Given the description of an element on the screen output the (x, y) to click on. 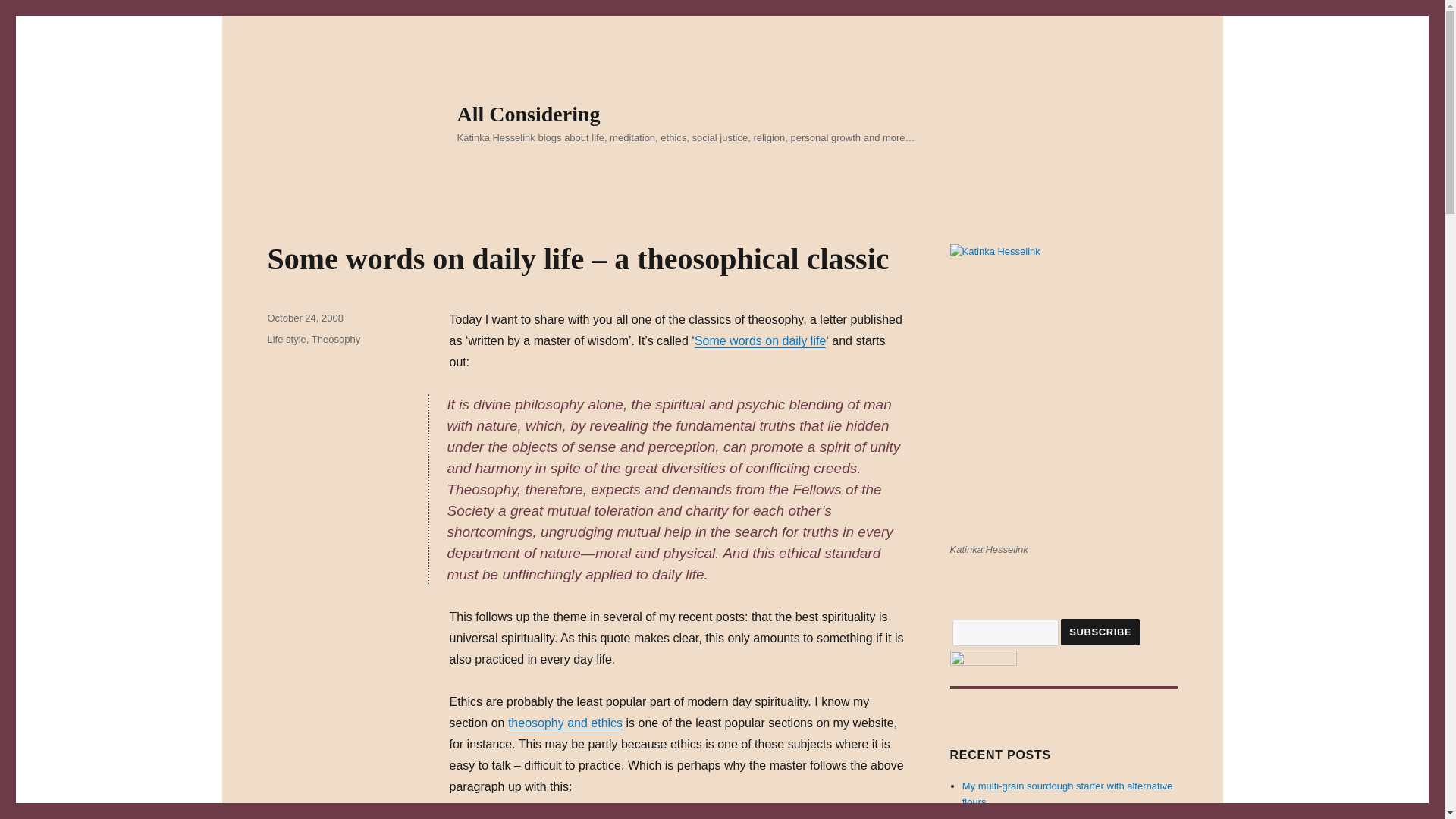
Theosophy (335, 338)
Some words on daily life (759, 340)
October 24, 2008 (304, 317)
All Considering (528, 114)
theosophy and ethics (565, 722)
Life style (285, 338)
Subscribe (1100, 632)
